Given the description of an element on the screen output the (x, y) to click on. 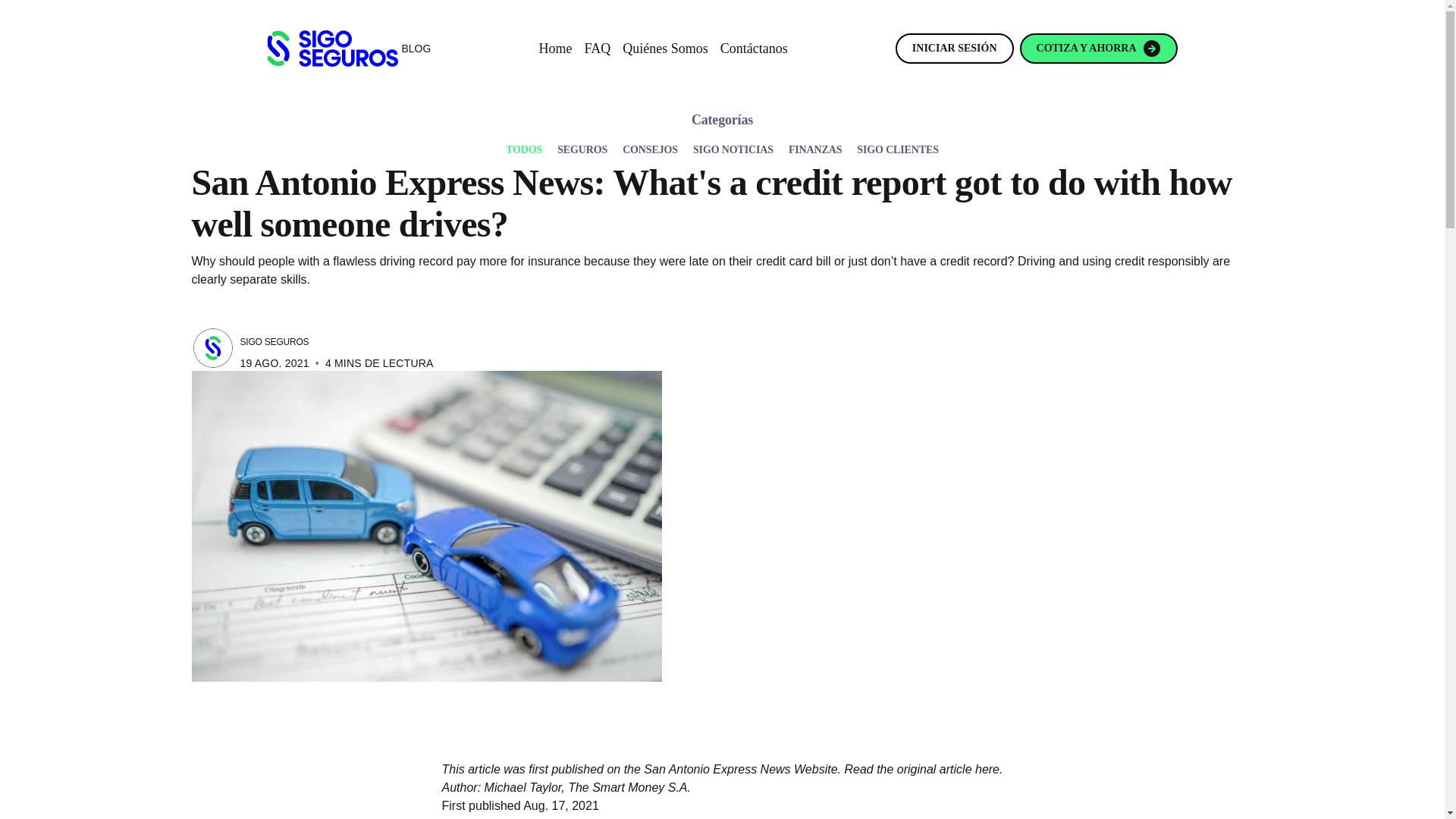
SIGO SEGUROS (274, 341)
TODOS (523, 144)
COTIZA Y AHORRA (1098, 48)
BLOG (348, 48)
Home (561, 47)
SIGO CLIENTES (898, 144)
Michael Taylor (523, 787)
FINANZAS (815, 144)
SEGUROS (582, 144)
FAQ (604, 47)
